Given the description of an element on the screen output the (x, y) to click on. 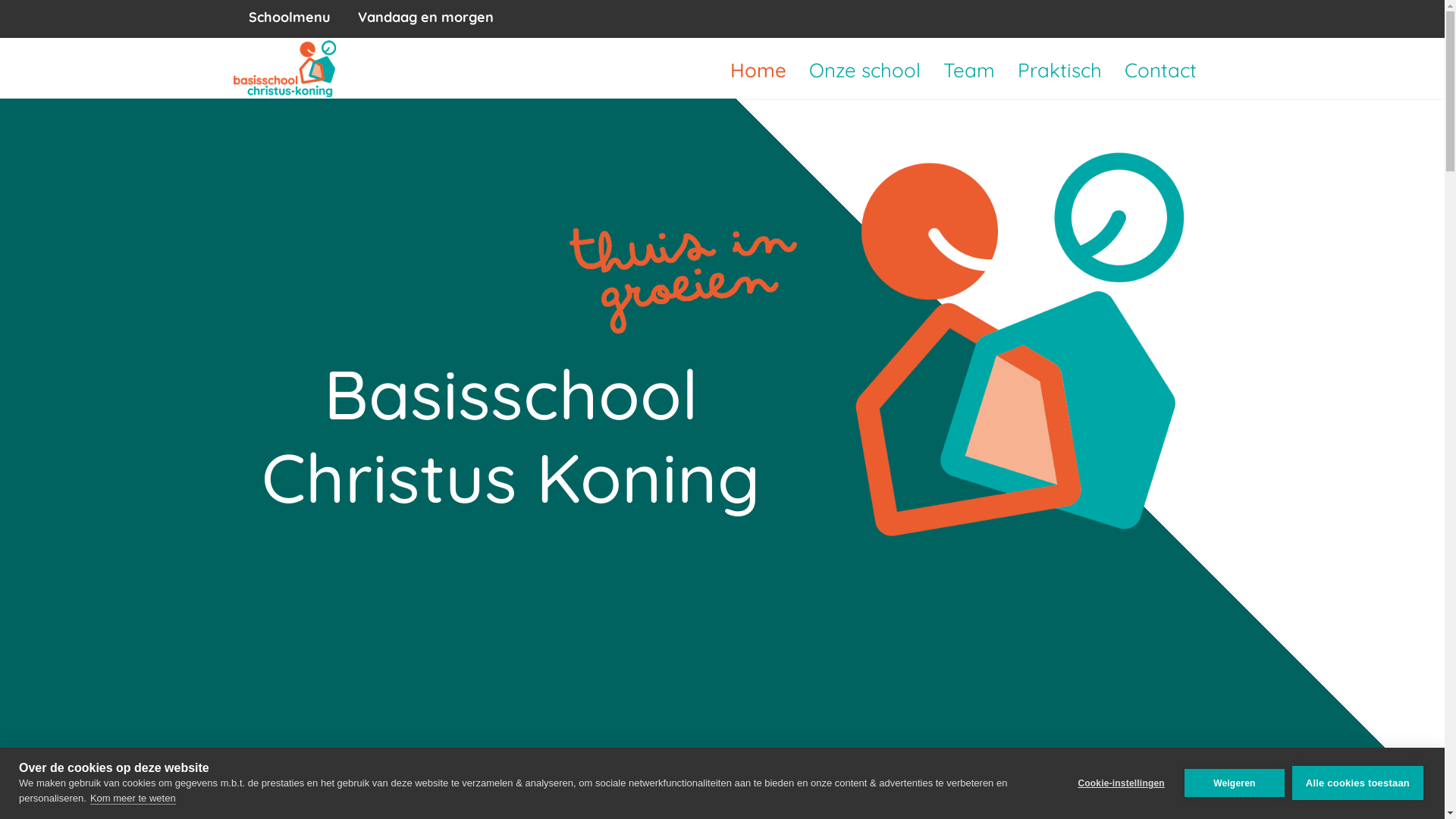
Cookie-instellingen Element type: text (1120, 782)
Home Element type: text (757, 70)
Onze school Element type: text (864, 70)
Team Element type: text (968, 70)
Schoolmenu Element type: text (289, 16)
Praktisch Element type: text (1058, 70)
Weigeren Element type: text (1234, 782)
Contact Element type: text (1160, 70)
Alle cookies toestaan Element type: text (1357, 782)
Kom meer te weten Element type: text (132, 797)
Vandaag en morgen Element type: text (425, 16)
